Given the description of an element on the screen output the (x, y) to click on. 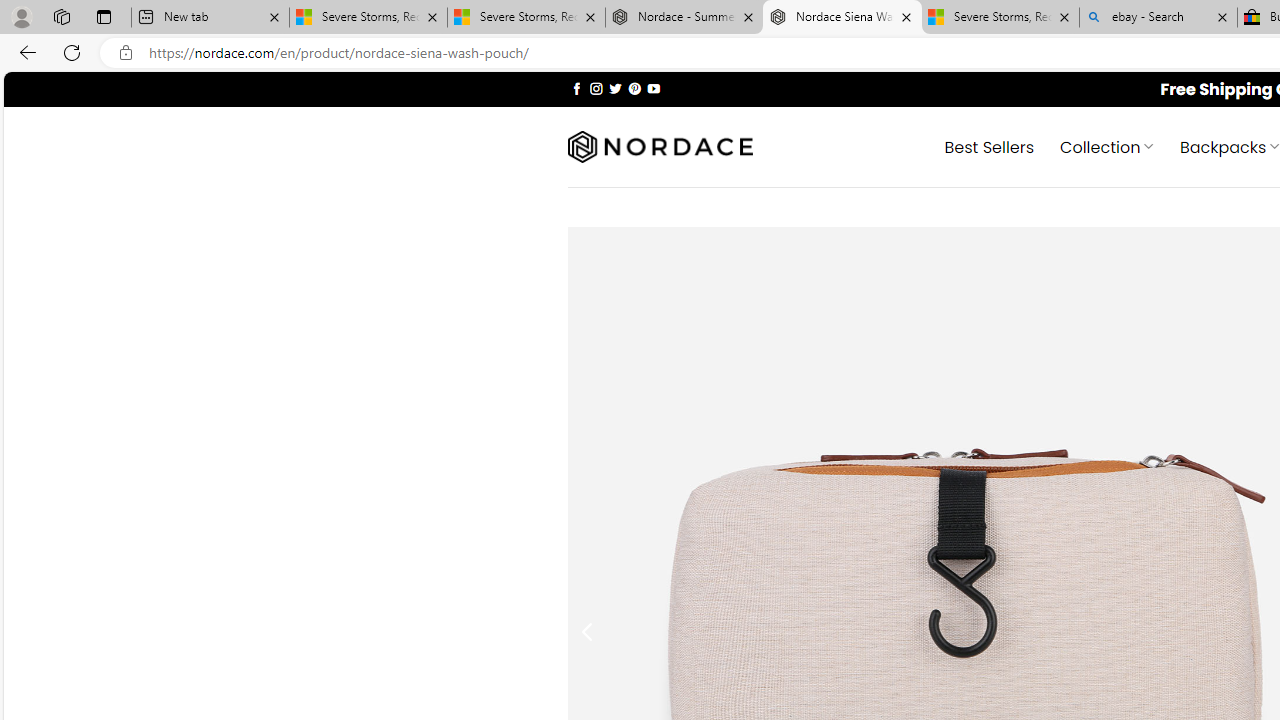
Follow on Pinterest (634, 88)
  Best Sellers (989, 146)
Follow on YouTube (653, 88)
Nordace Siena Wash Pouch (842, 17)
Follow on Twitter (615, 88)
